Given the description of an element on the screen output the (x, y) to click on. 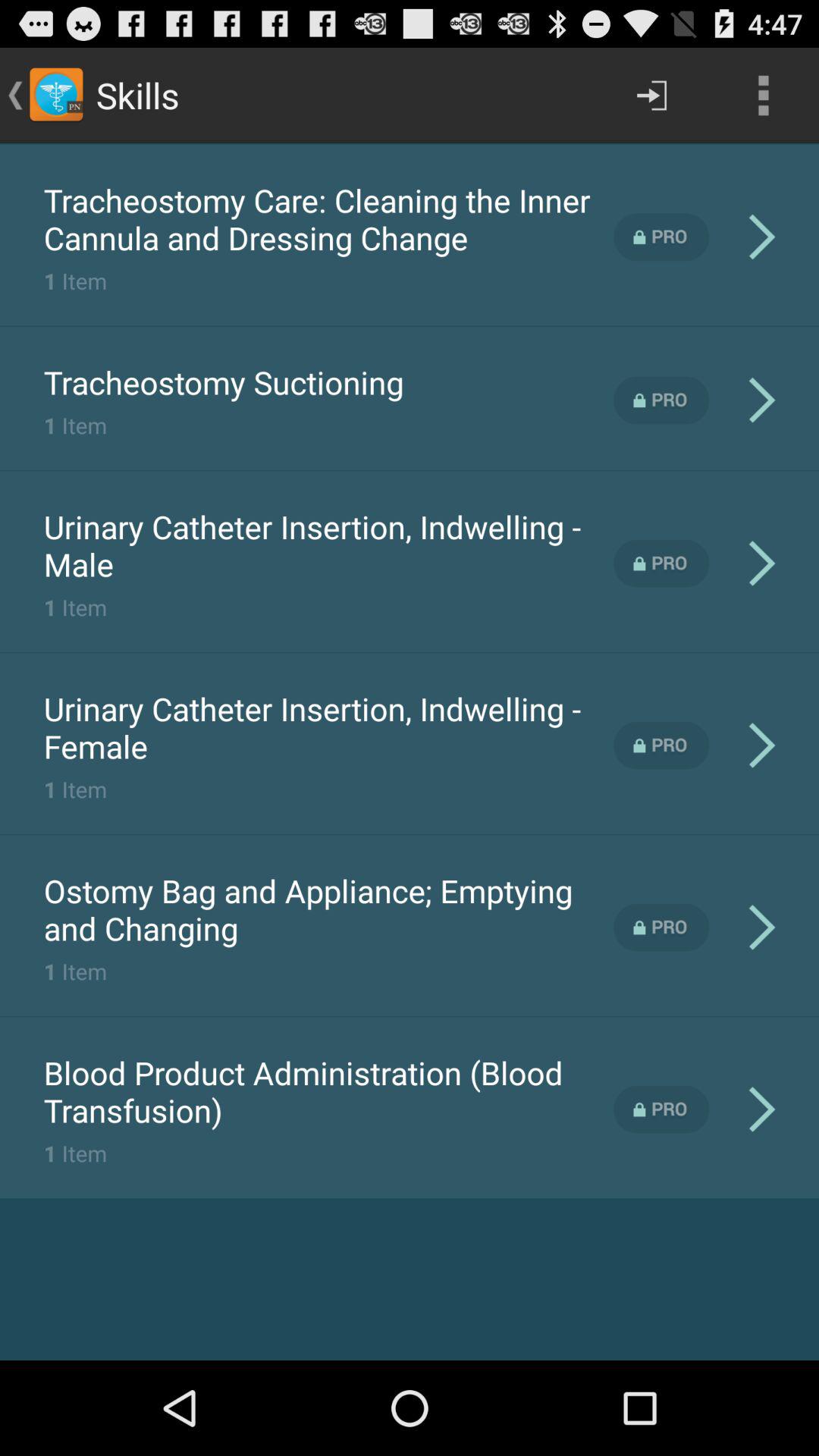
turn on ostomy bag and app (328, 909)
